Given the description of an element on the screen output the (x, y) to click on. 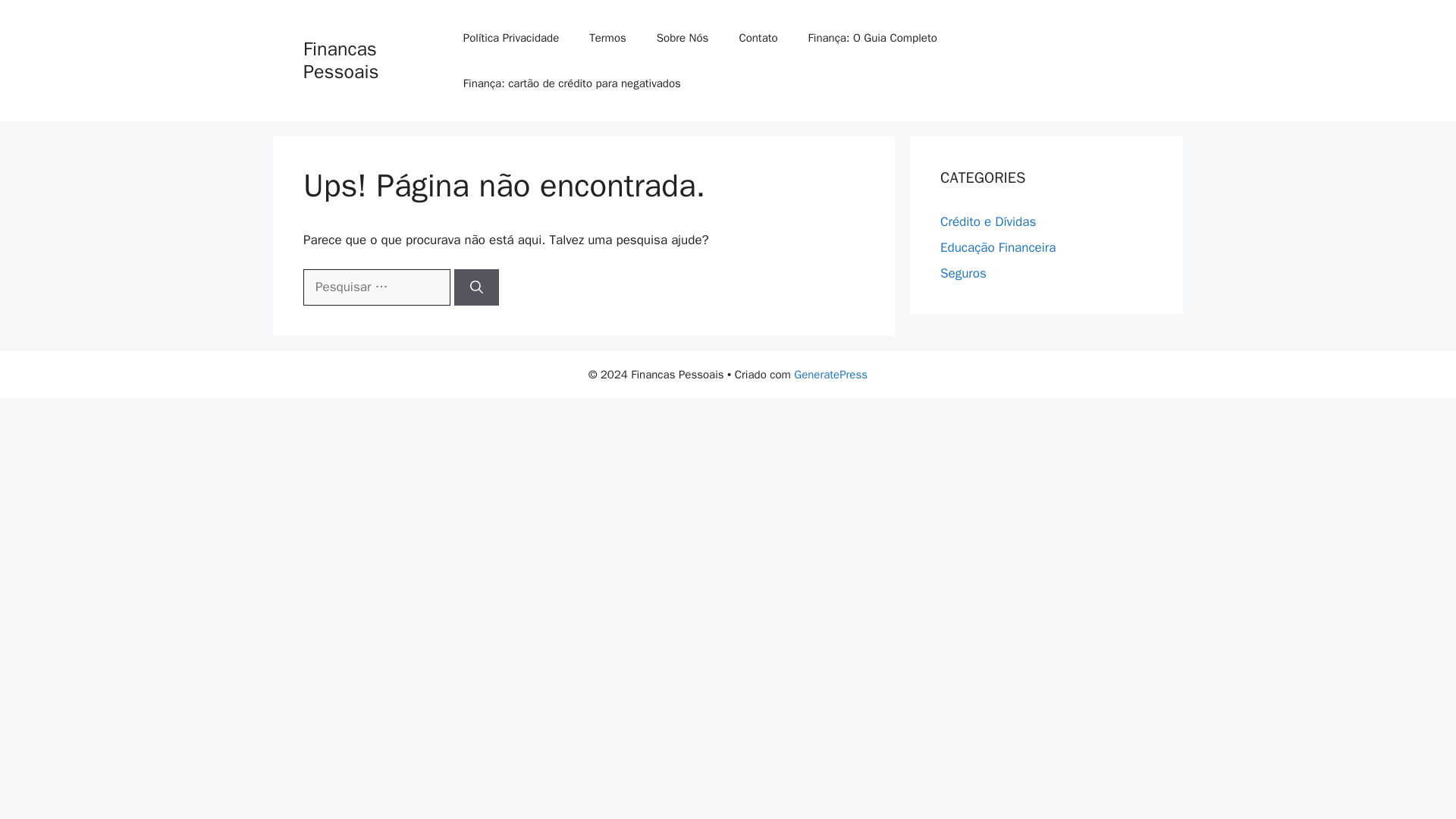
Termos (607, 37)
GeneratePress (830, 374)
Seguros (963, 273)
Financas Pessoais (340, 59)
Pesquisar por: (375, 287)
Contato (757, 37)
